Given the description of an element on the screen output the (x, y) to click on. 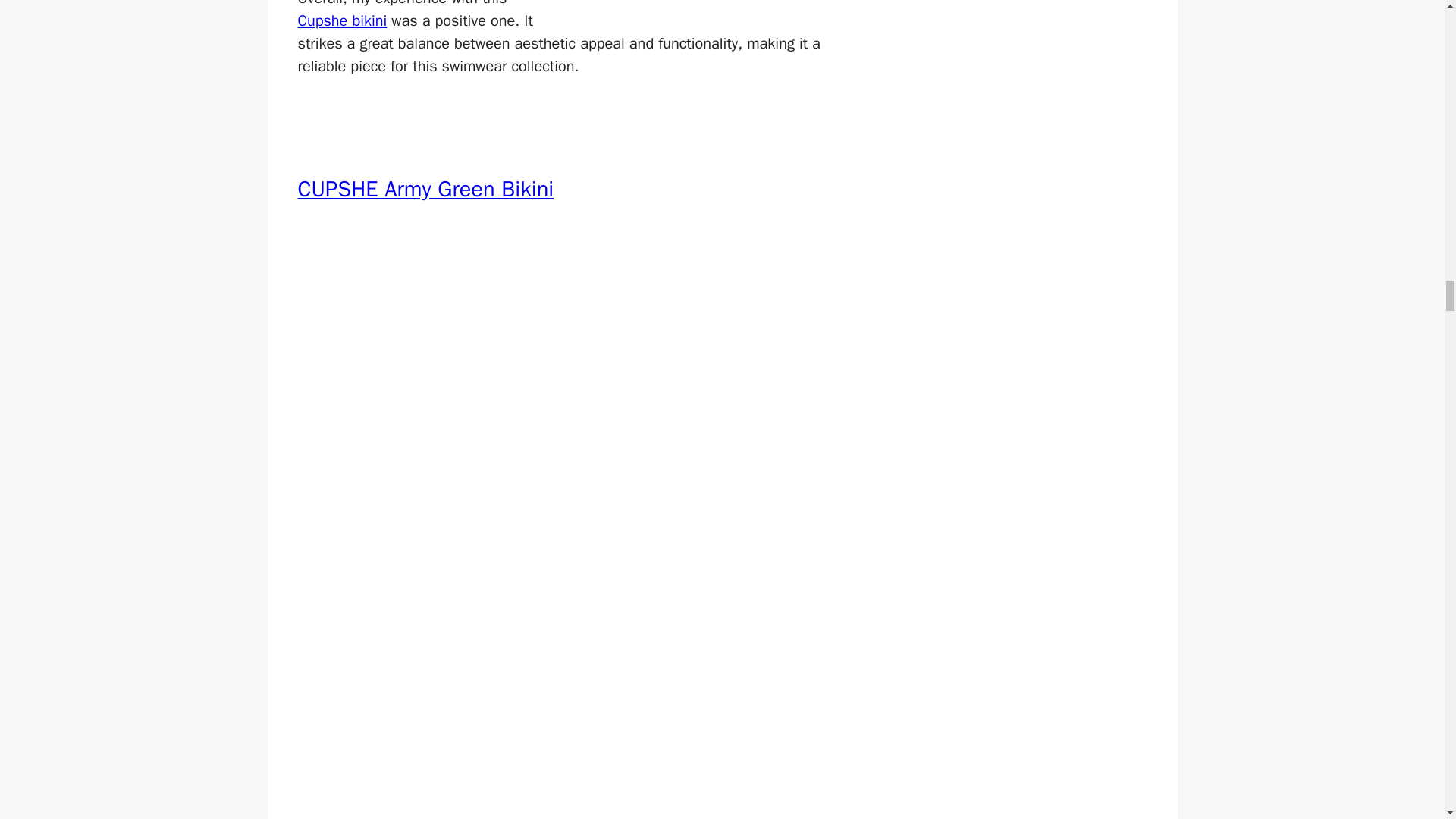
model wearing Cupshe olive green bikini. rear view (719, 12)
